Given the description of an element on the screen output the (x, y) to click on. 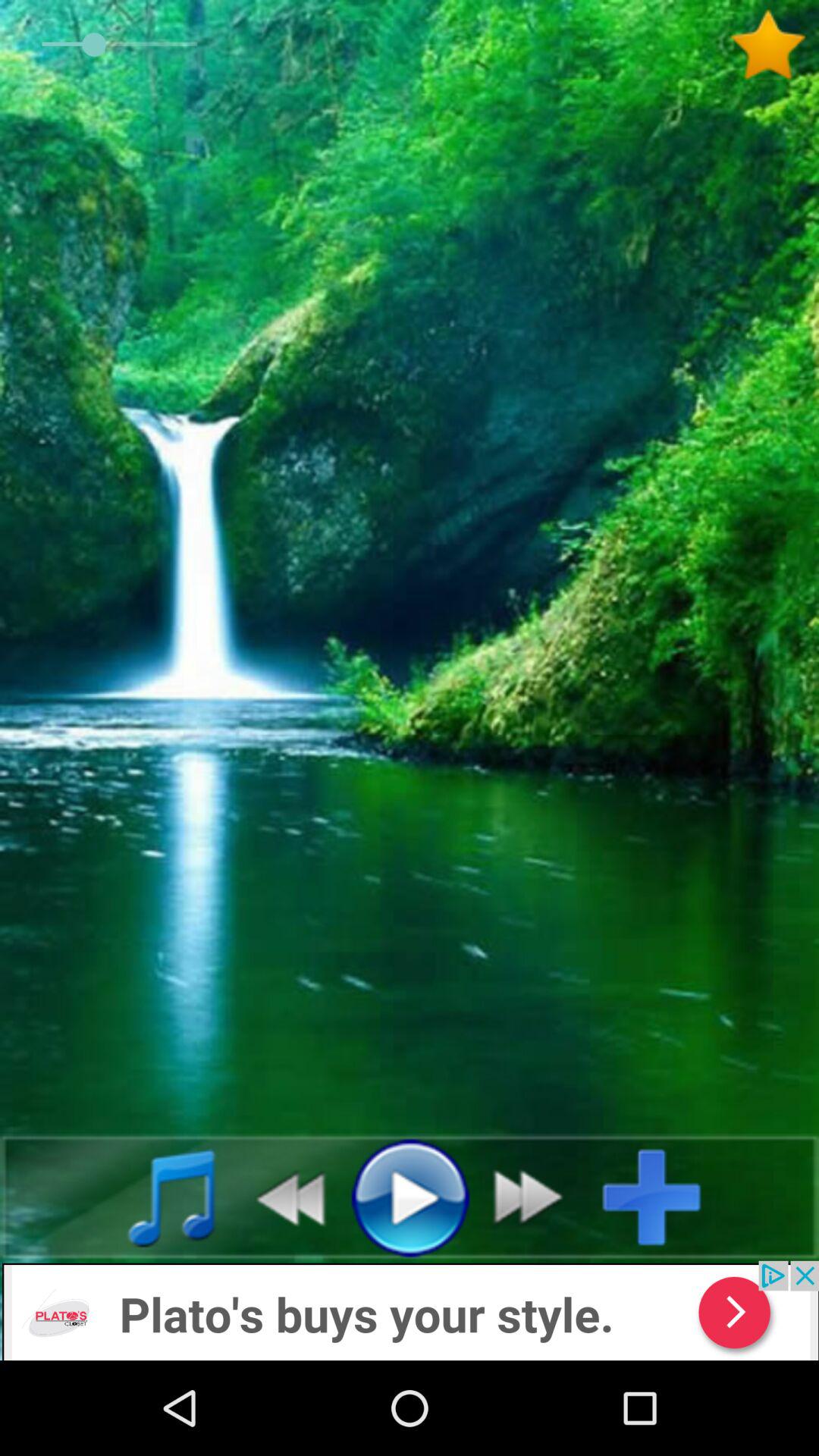
advertisement (409, 1310)
